Given the description of an element on the screen output the (x, y) to click on. 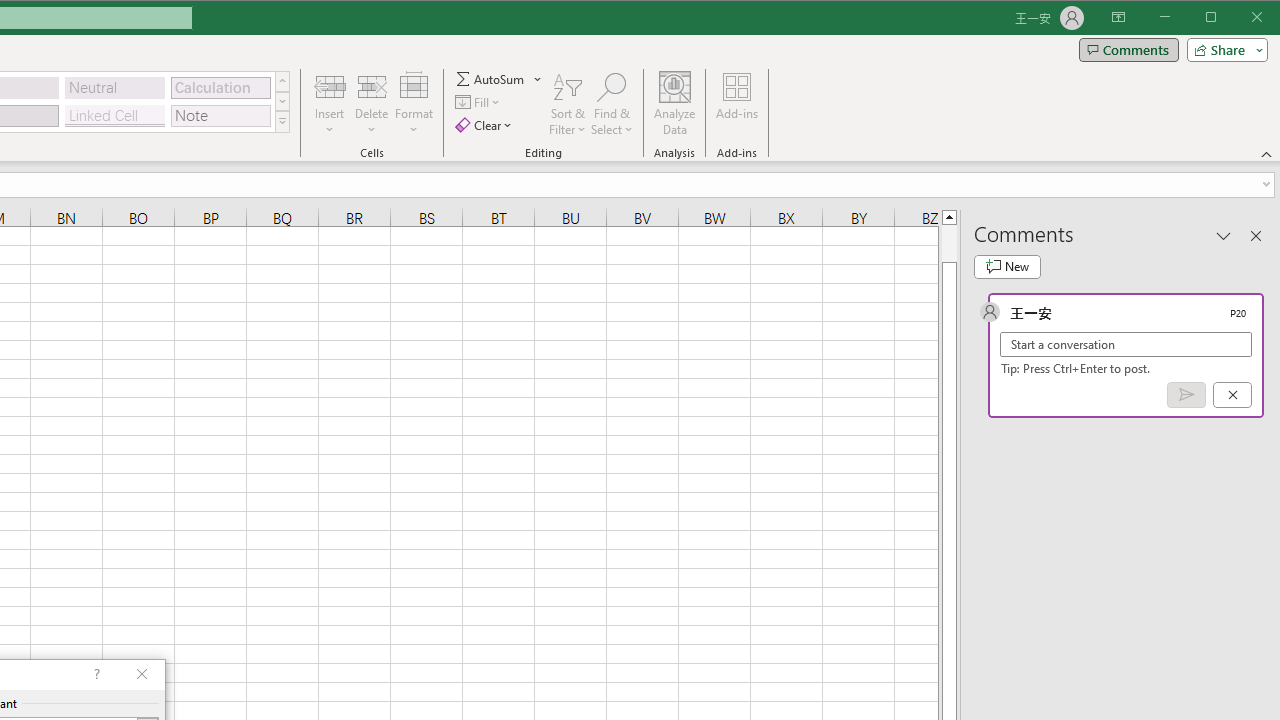
Note (220, 116)
Find & Select (612, 104)
New comment (1007, 266)
Format (414, 104)
Start a conversation (1126, 344)
Maximize (1239, 18)
